Given the description of an element on the screen output the (x, y) to click on. 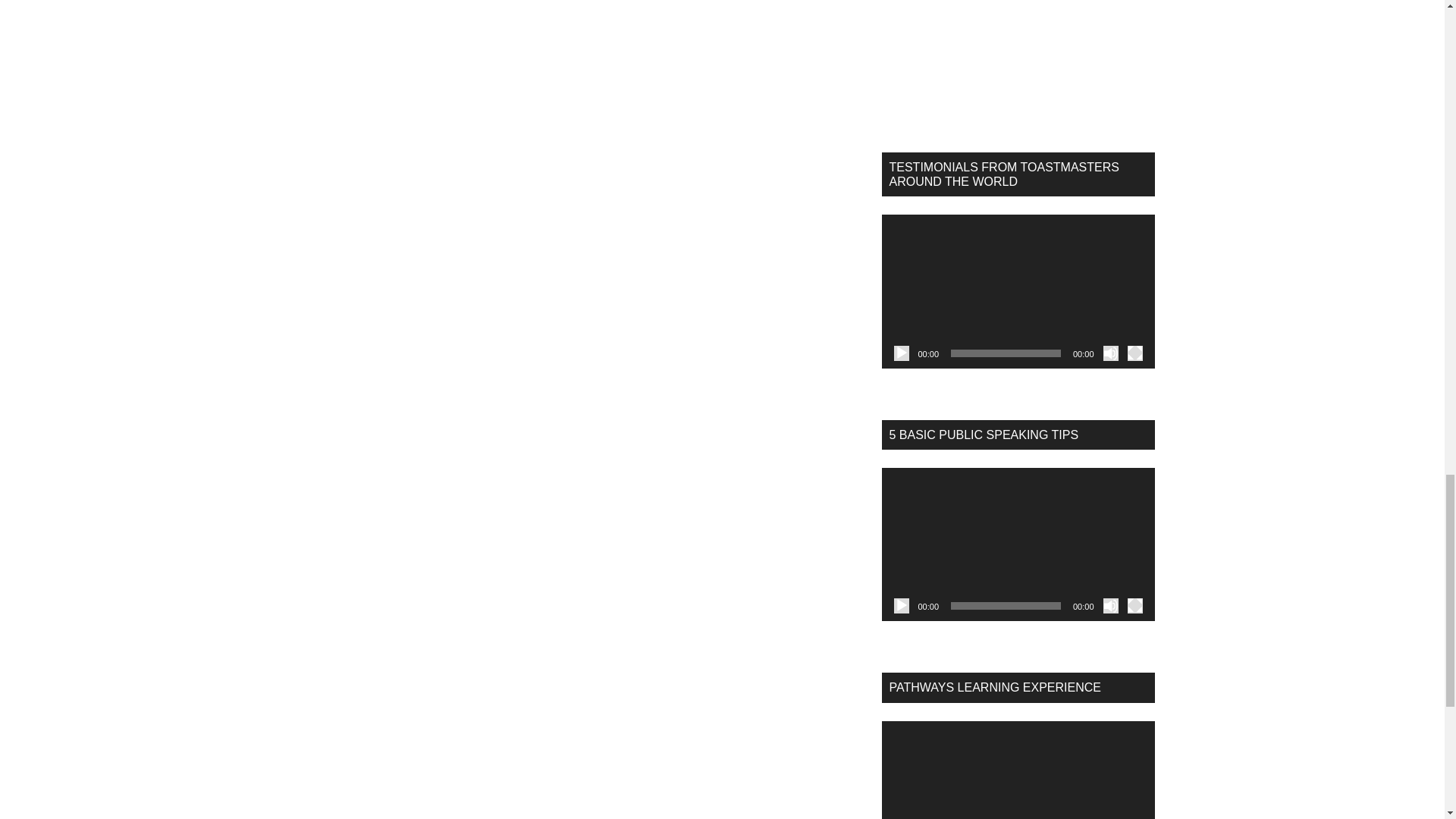
Fullscreen (1133, 605)
Mute (1110, 353)
Play (900, 605)
Fullscreen (1133, 353)
Mute (1110, 605)
Play (900, 353)
